Given the description of an element on the screen output the (x, y) to click on. 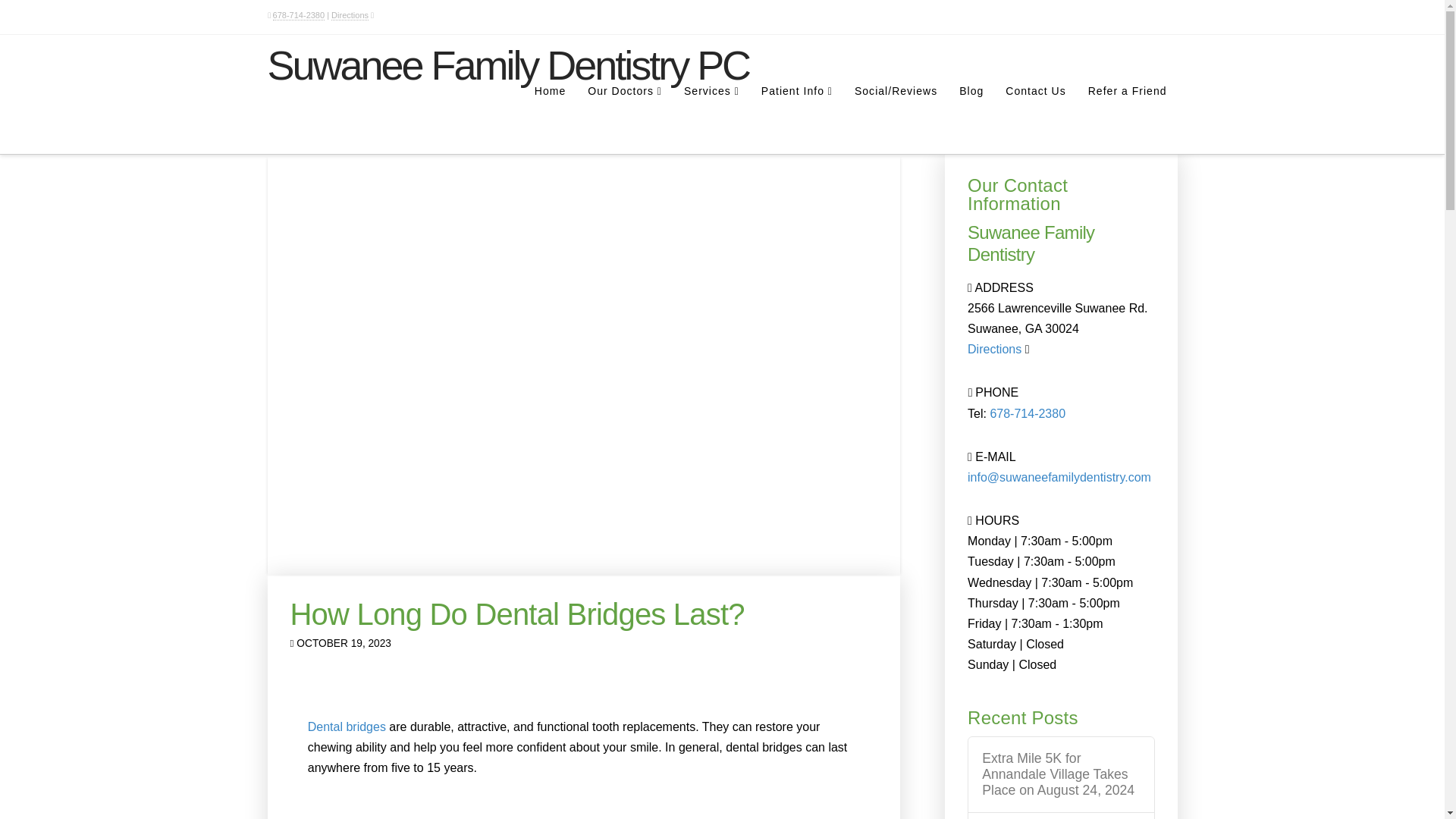
Directons (995, 349)
Phone Number (1027, 413)
Email Address (1059, 477)
Directons (349, 15)
678-714-2380 (298, 15)
Directions (349, 15)
Patient Info (796, 119)
Our Doctors (624, 119)
Phone Number (298, 15)
Suwanee Family Dentistry PC (507, 65)
Services (710, 119)
